Given the description of an element on the screen output the (x, y) to click on. 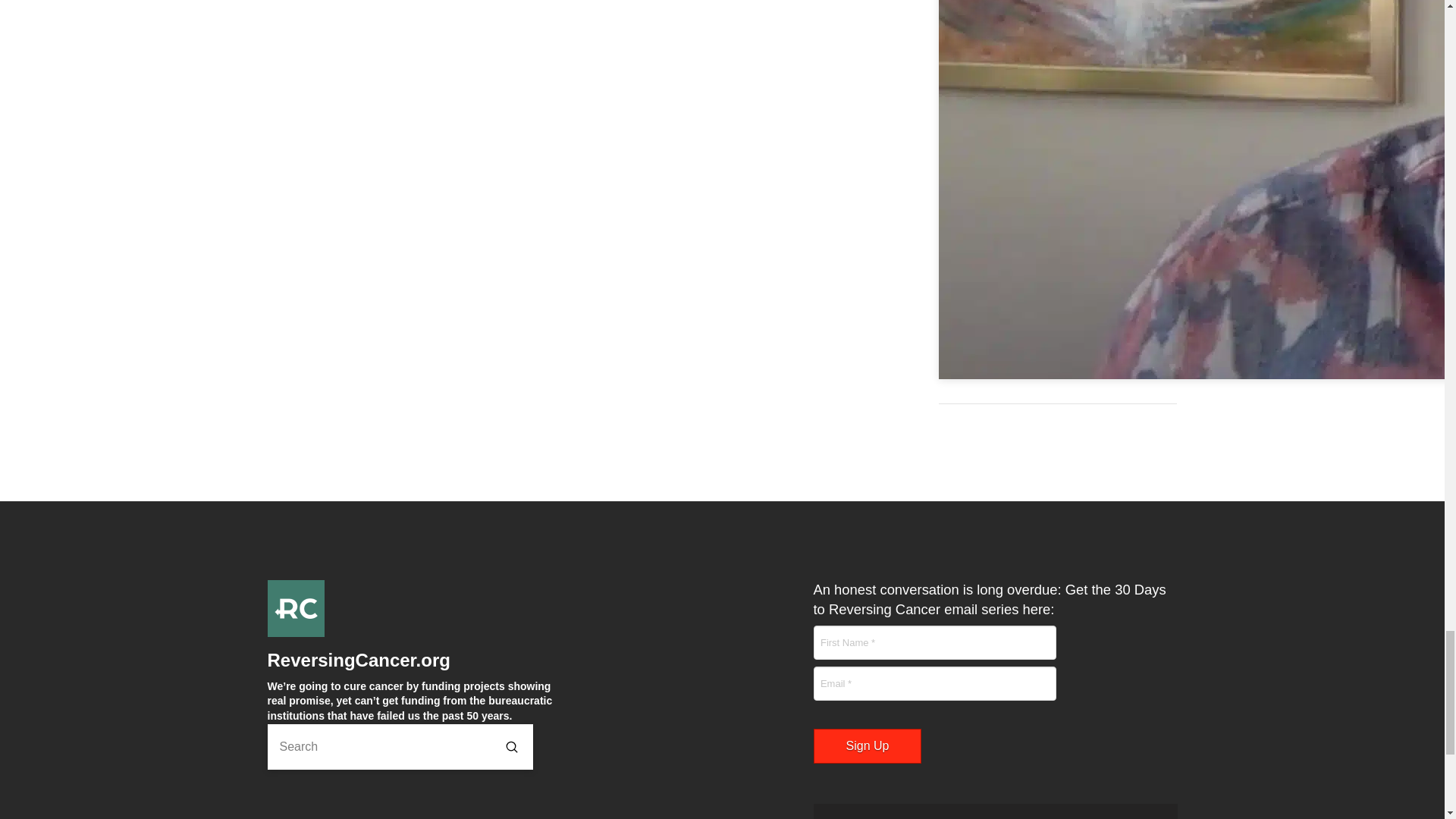
Sign Up (866, 746)
DONATE NOW (994, 811)
Submit (510, 746)
